Given the description of an element on the screen output the (x, y) to click on. 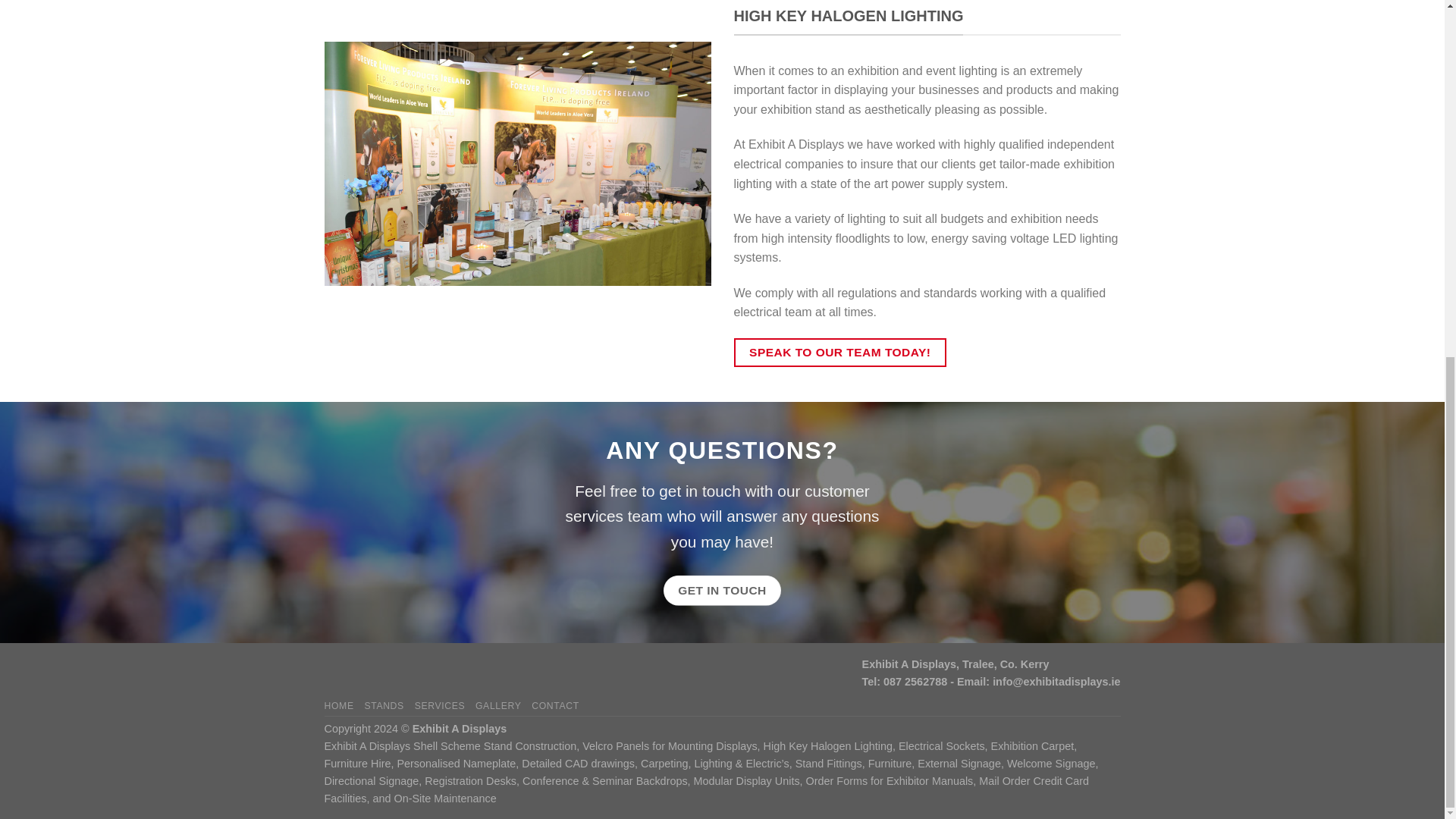
STANDS (383, 706)
CONTACT (555, 706)
GALLERY (498, 706)
SPEAK TO OUR TEAM TODAY! (840, 352)
GET IN TOUCH (722, 590)
HOME (338, 706)
SERVICES (439, 706)
